Given the description of an element on the screen output the (x, y) to click on. 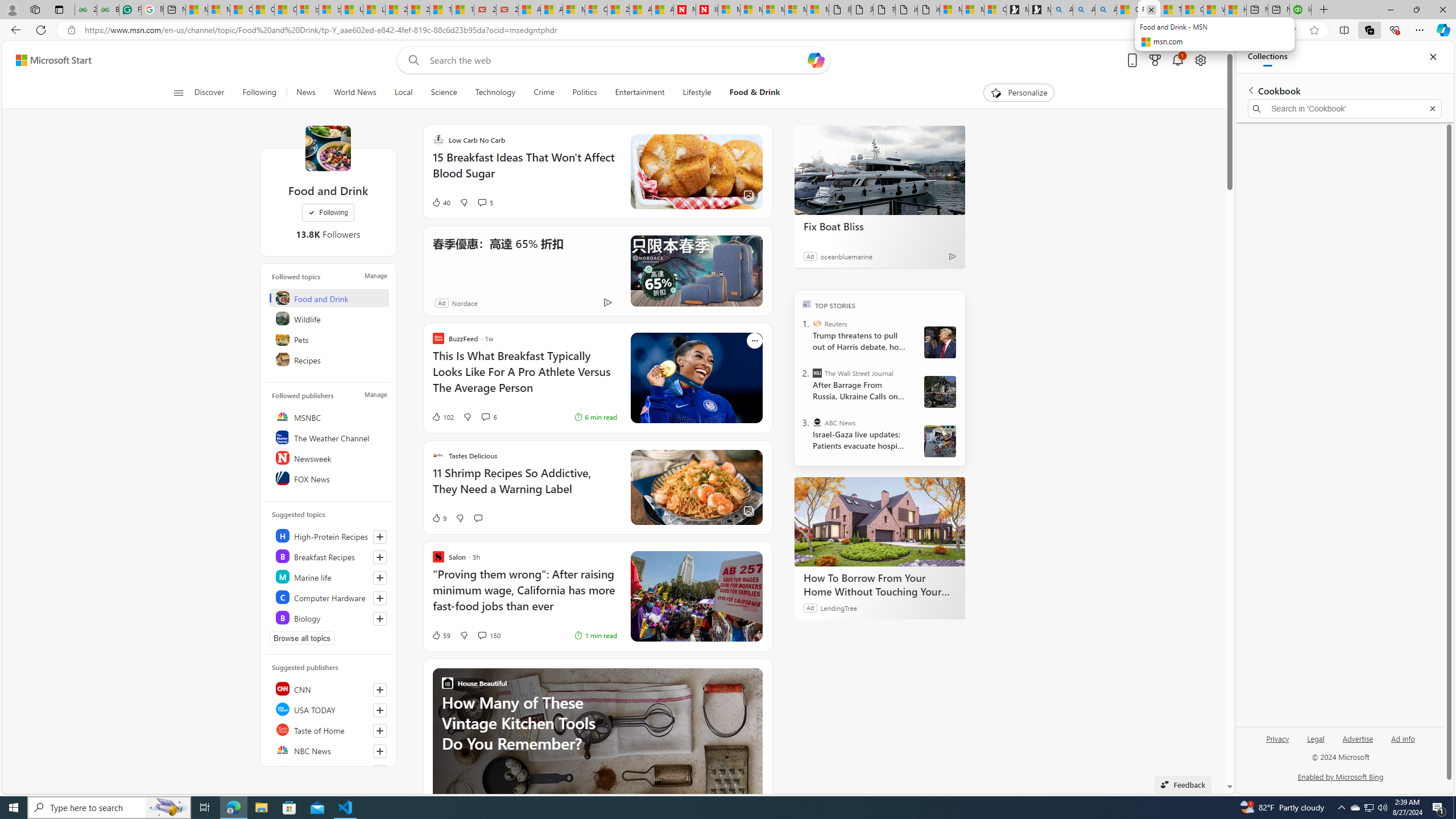
oceanbluemarine (845, 256)
59 Like (440, 635)
The Wall Street Journal (816, 372)
View comments 6 Comment (489, 416)
